Given the description of an element on the screen output the (x, y) to click on. 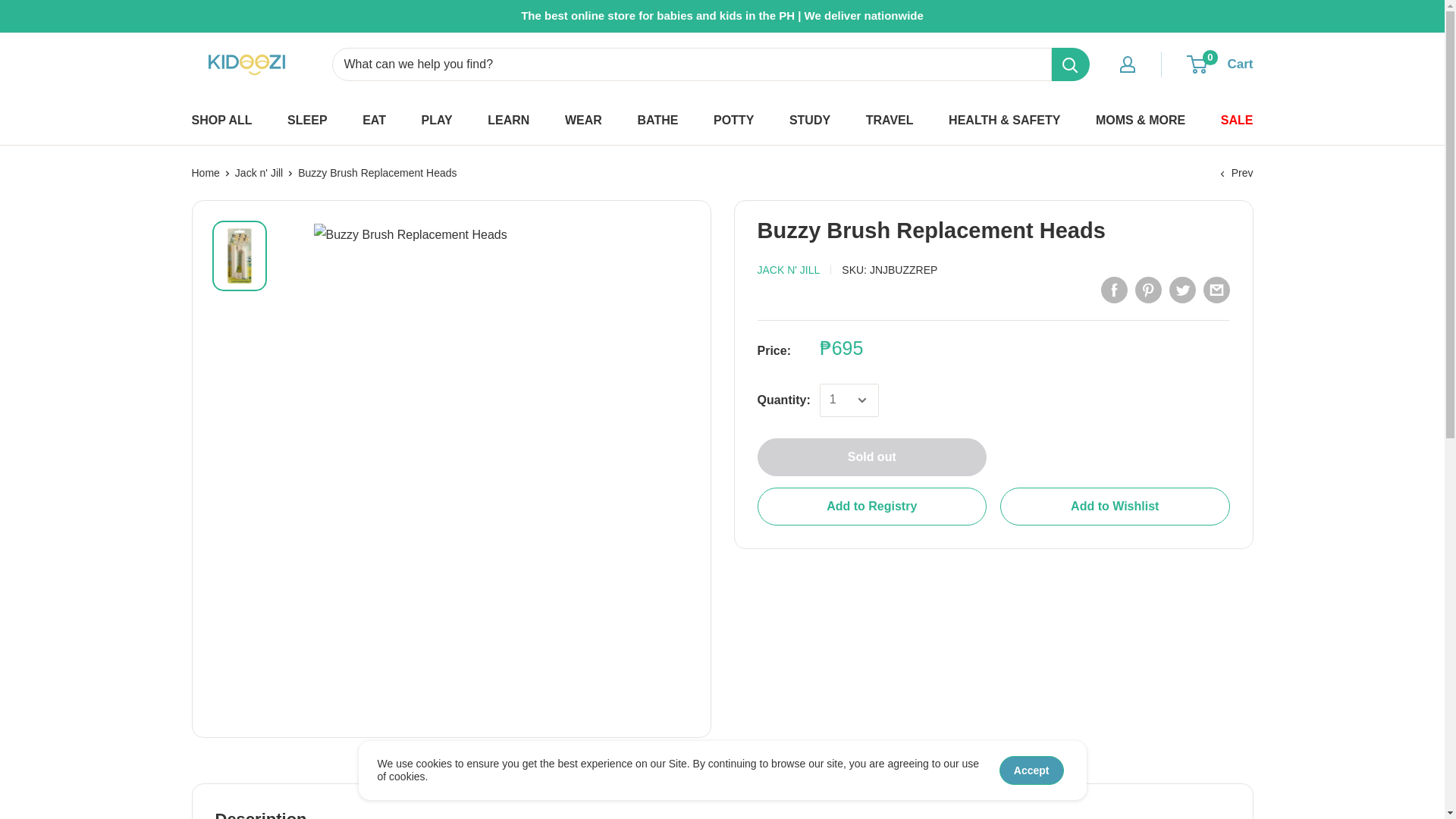
Add to Wishlist (1115, 506)
Add to Registry (872, 506)
